Given the description of an element on the screen output the (x, y) to click on. 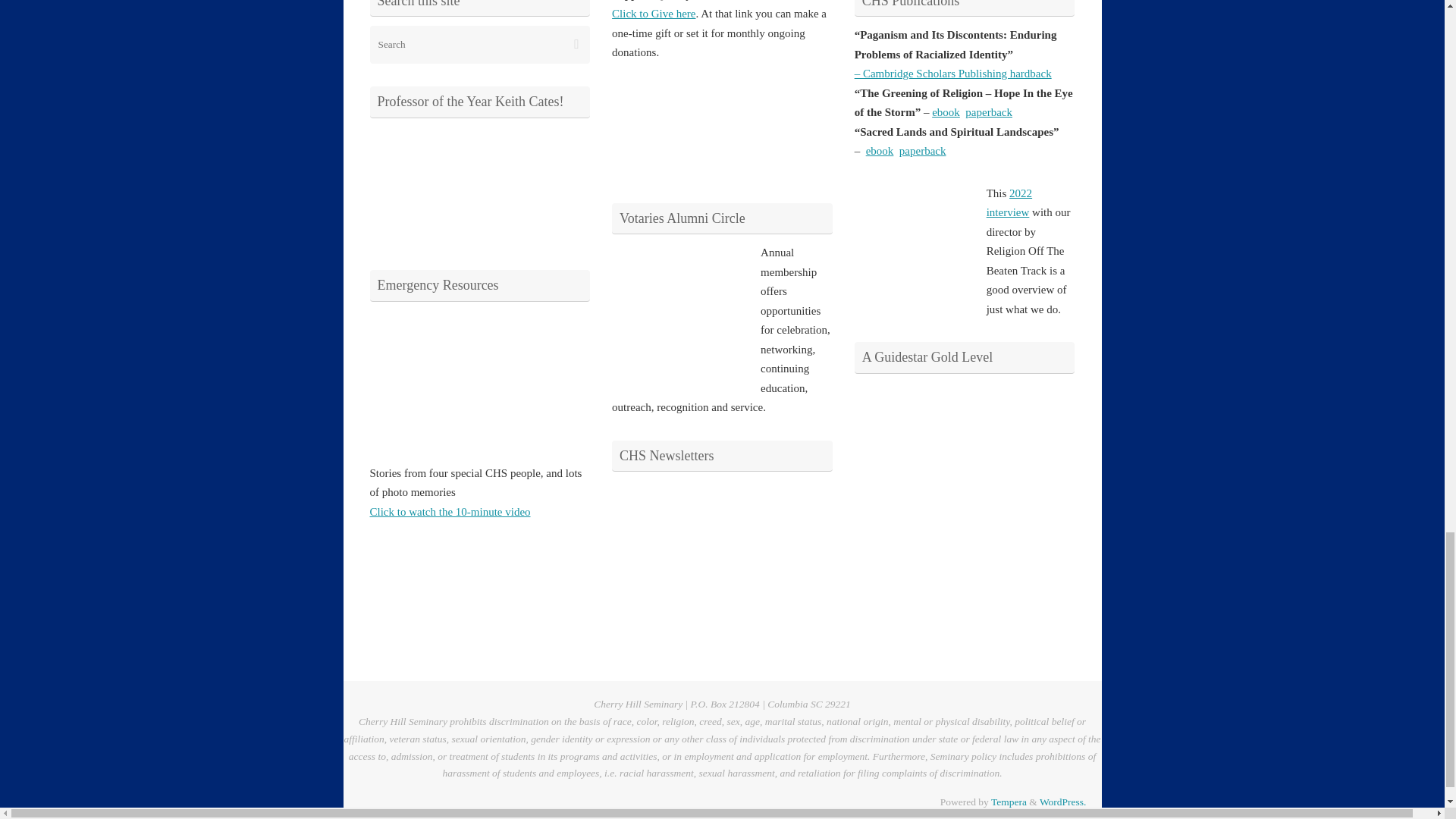
Tempera Theme by Cryout Creations (1008, 801)
Semantic Personal Publishing Platform (1062, 801)
A Guidestar Gold Level (911, 439)
Professor of the Year Amy Beltaine! (426, 183)
